Given the description of an element on the screen output the (x, y) to click on. 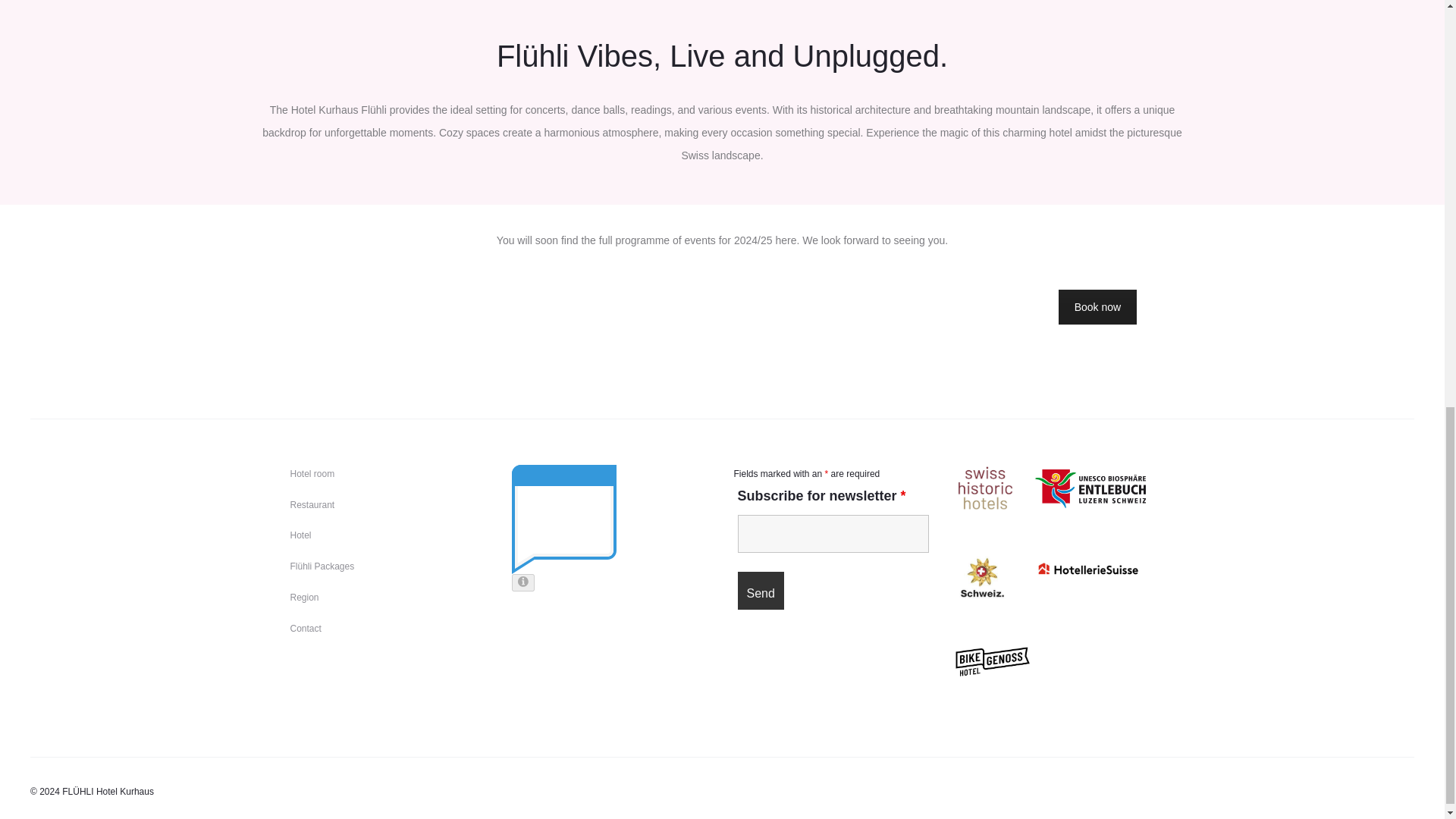
Region (303, 597)
Book now (1097, 306)
Hotel room (311, 473)
Send (759, 590)
Restaurant (311, 504)
Send (759, 590)
Hotel (300, 534)
Contact (304, 628)
